Given the description of an element on the screen output the (x, y) to click on. 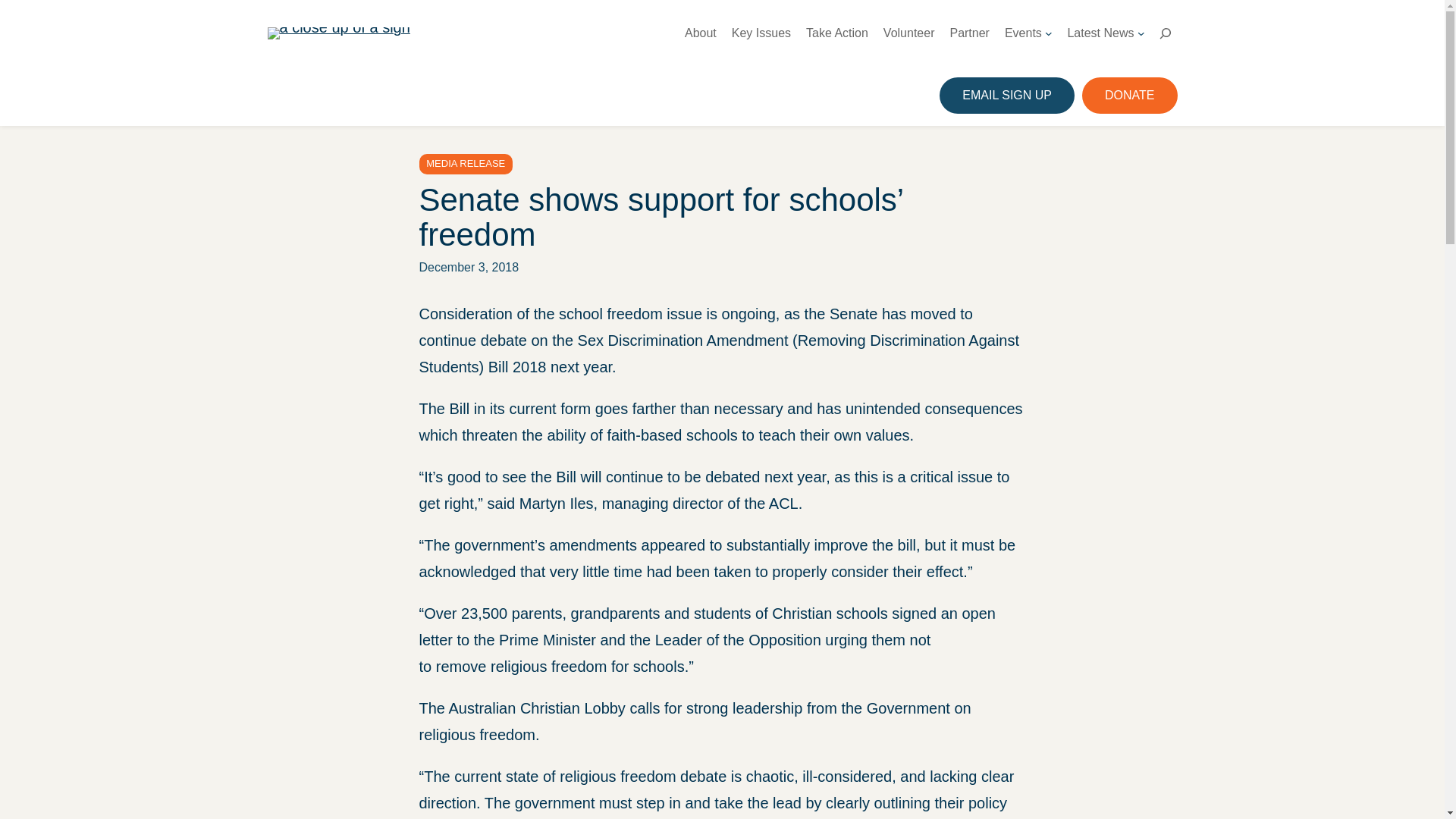
Take Action (836, 33)
Latest News (1100, 33)
Volunteer (908, 33)
About (700, 33)
Partner (968, 33)
Events (1023, 33)
DONATE (1128, 94)
Key Issues (761, 33)
EMAIL SIGN UP (1006, 94)
